Given the description of an element on the screen output the (x, y) to click on. 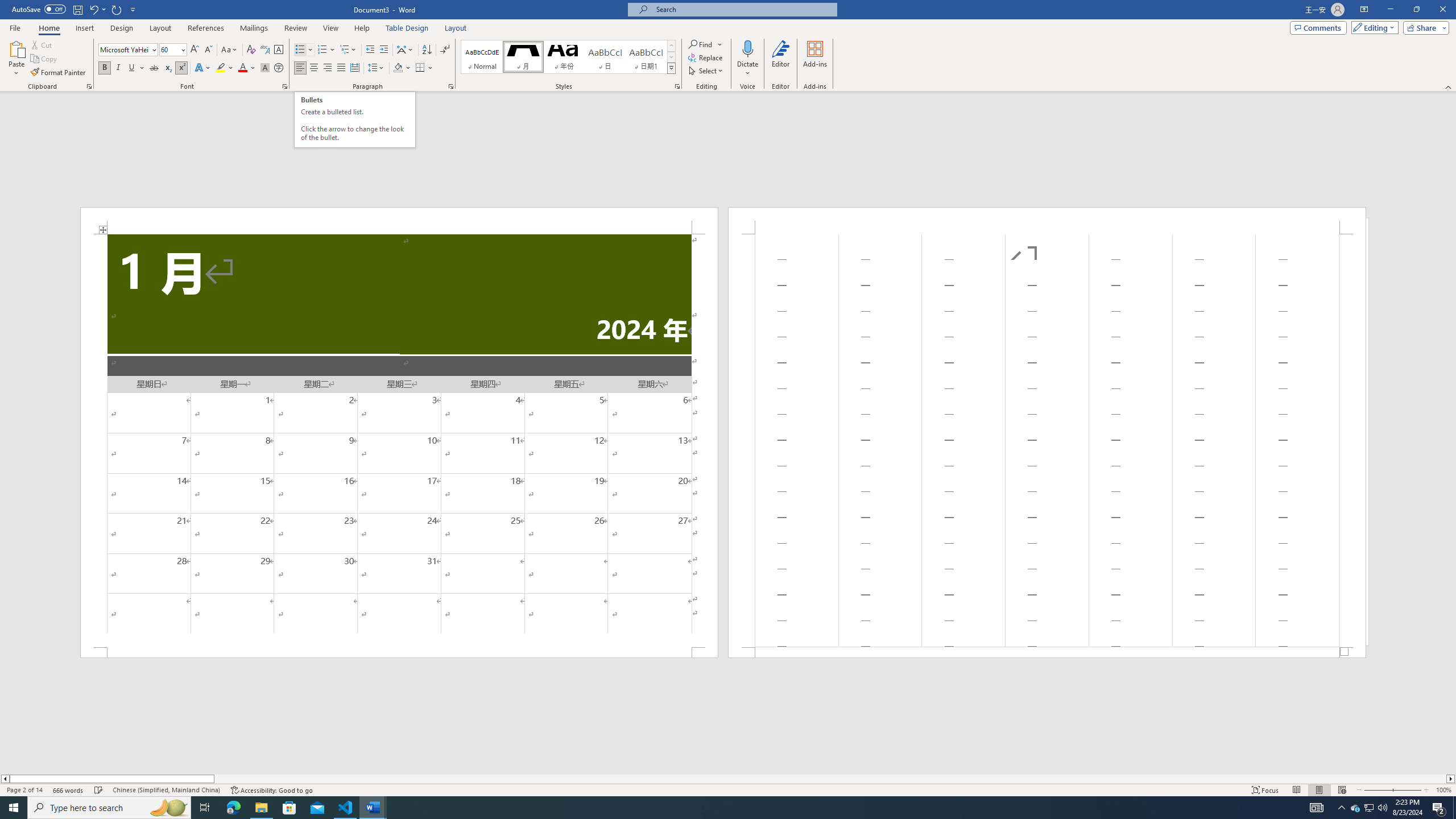
Row up (670, 45)
AutomationID: QuickStylesGallery (568, 56)
Class: NetUIScrollBar (728, 778)
Font Size (169, 49)
Copy (45, 58)
Class: MsoCommandBar (728, 789)
Ribbon Display Options (1364, 9)
Align Right (327, 67)
Justify (340, 67)
Customize Quick Access Toolbar (133, 9)
Insert (83, 28)
Center (313, 67)
Font Color (246, 67)
Open (182, 49)
